Given the description of an element on the screen output the (x, y) to click on. 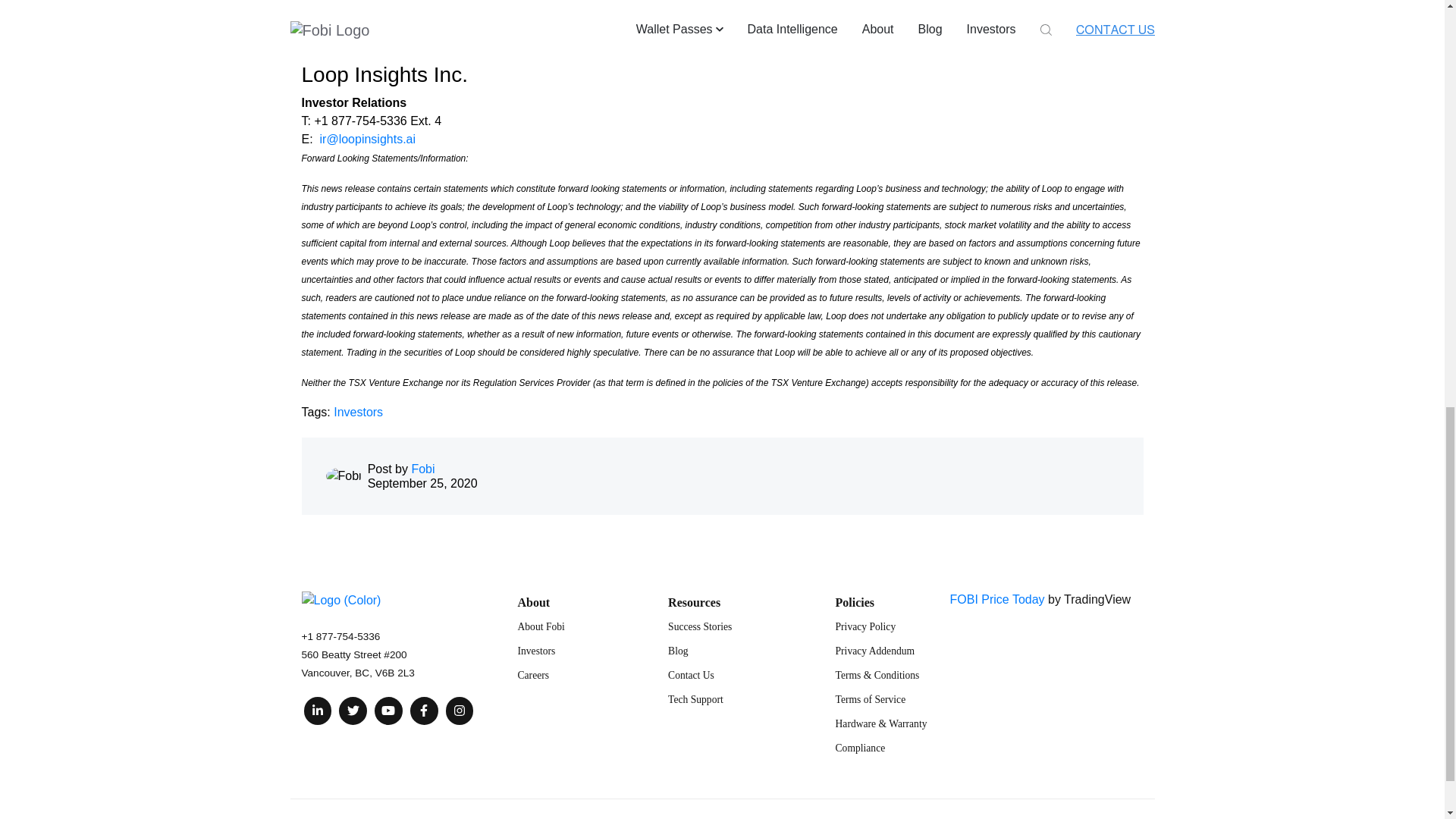
About Fobi (540, 626)
About (533, 602)
Careers (532, 674)
Investors (357, 411)
Investors (535, 650)
Resources (694, 602)
Fobi (421, 468)
